Given the description of an element on the screen output the (x, y) to click on. 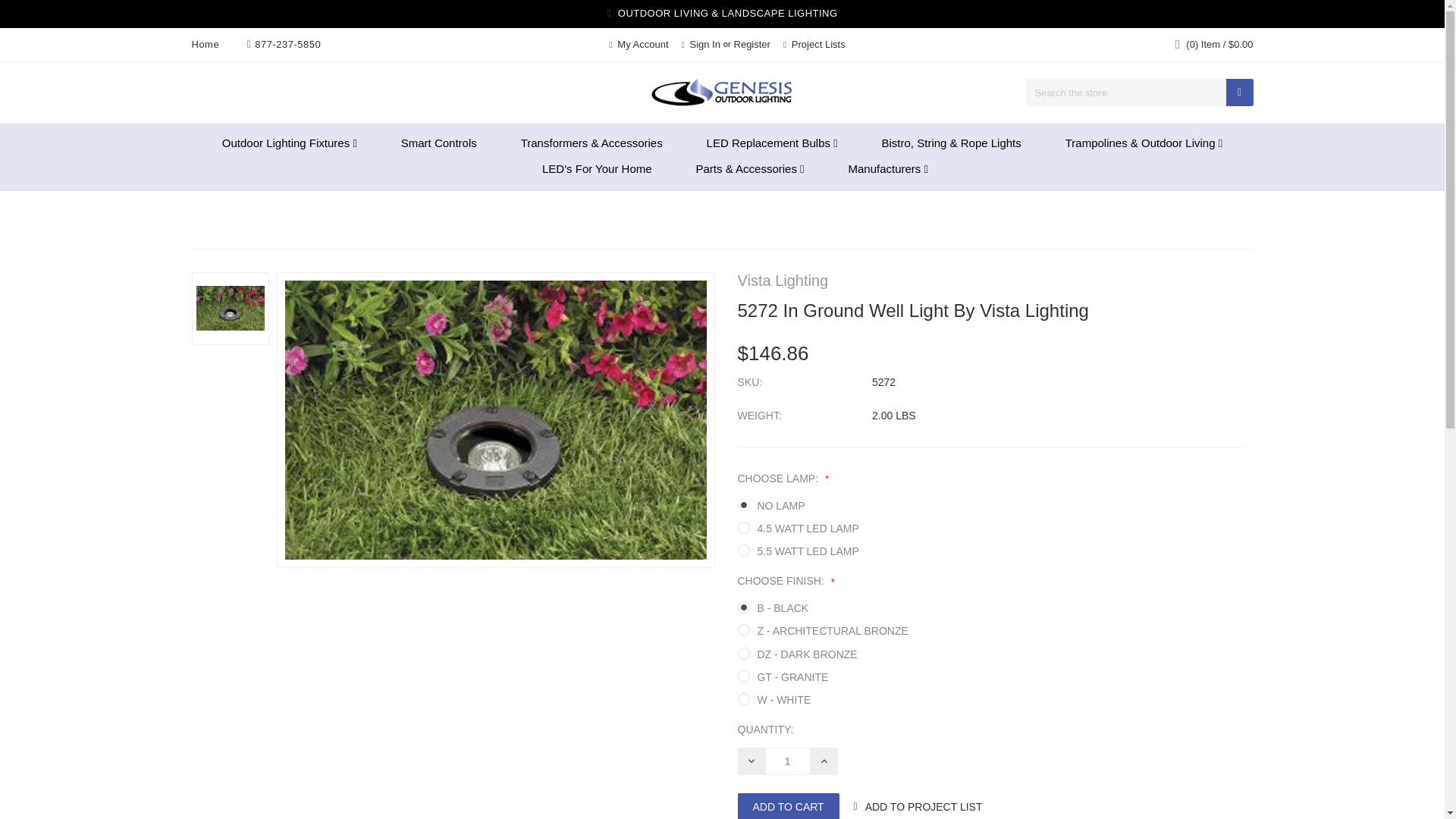
1 (786, 760)
Genesis Outdoor Lighting (721, 92)
Search (1238, 92)
5272 In Ground Well Light by Vista Lighting (229, 307)
Add to Cart (787, 806)
5272 In Ground Well Light by Vista Lighting (495, 420)
Add to Project list (923, 806)
Search (1238, 92)
